Given the description of an element on the screen output the (x, y) to click on. 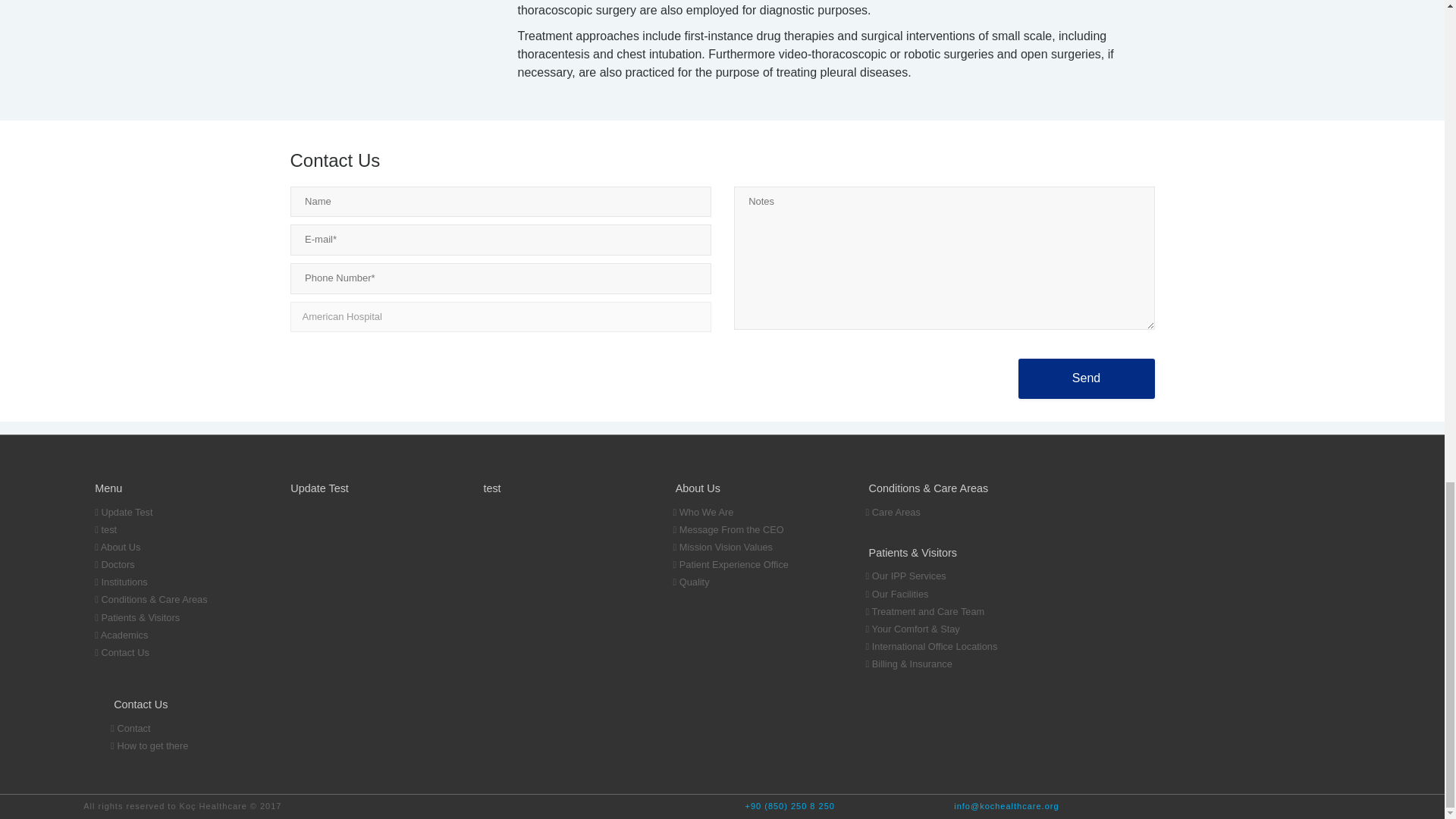
Care Areas (943, 513)
Our IPP Services (943, 577)
Doctors (171, 565)
About Us (171, 548)
Contact Us (171, 653)
Update Test (171, 513)
Patient Experience Office (749, 565)
Doctors (171, 565)
test (171, 530)
Treatment and Care Team (943, 612)
International Office Locations (943, 647)
Quality (749, 583)
About Us (171, 548)
Message From the CEO (749, 530)
Institutions (171, 583)
